Given the description of an element on the screen output the (x, y) to click on. 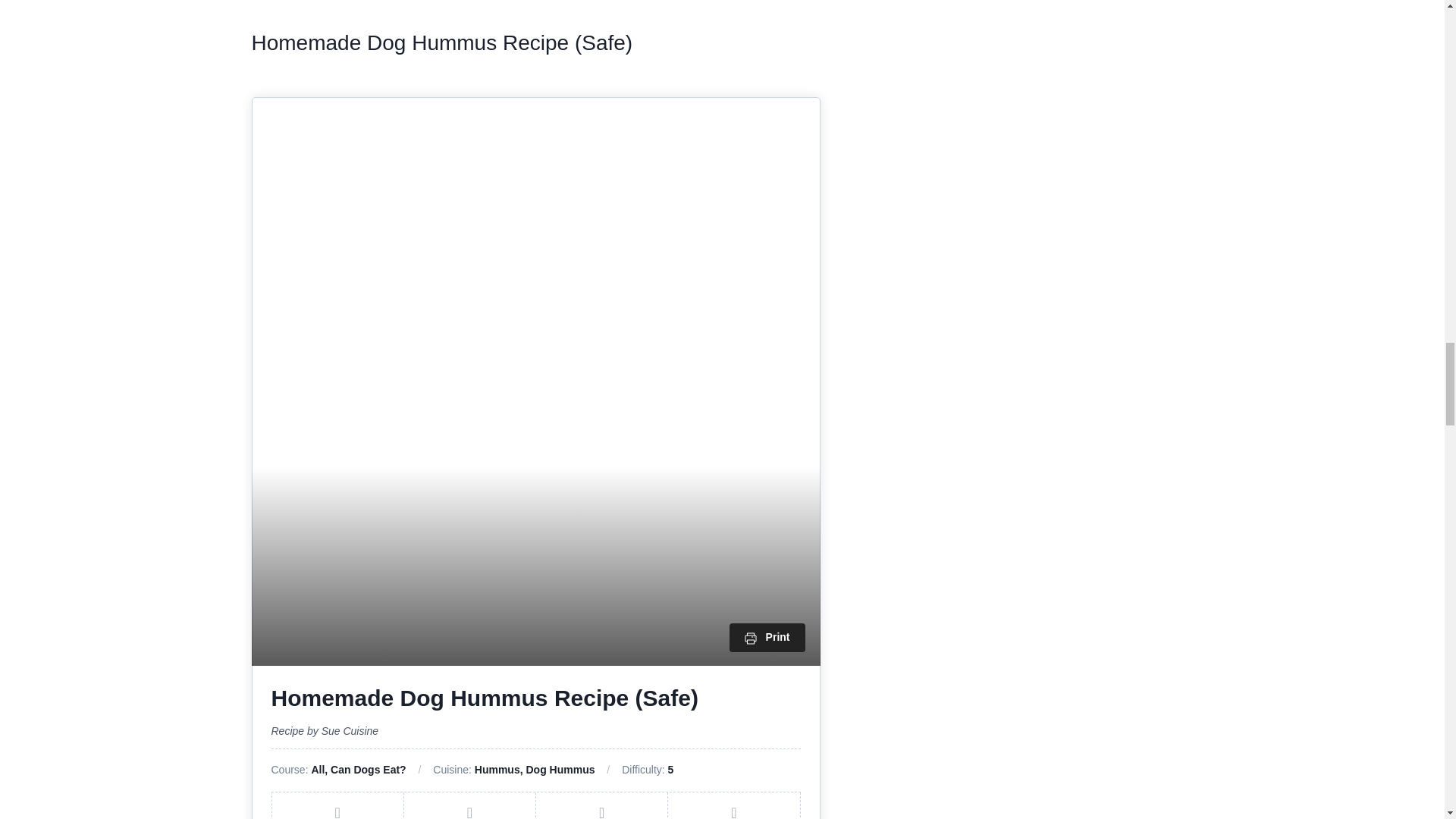
Print directions... (767, 637)
